Given the description of an element on the screen output the (x, y) to click on. 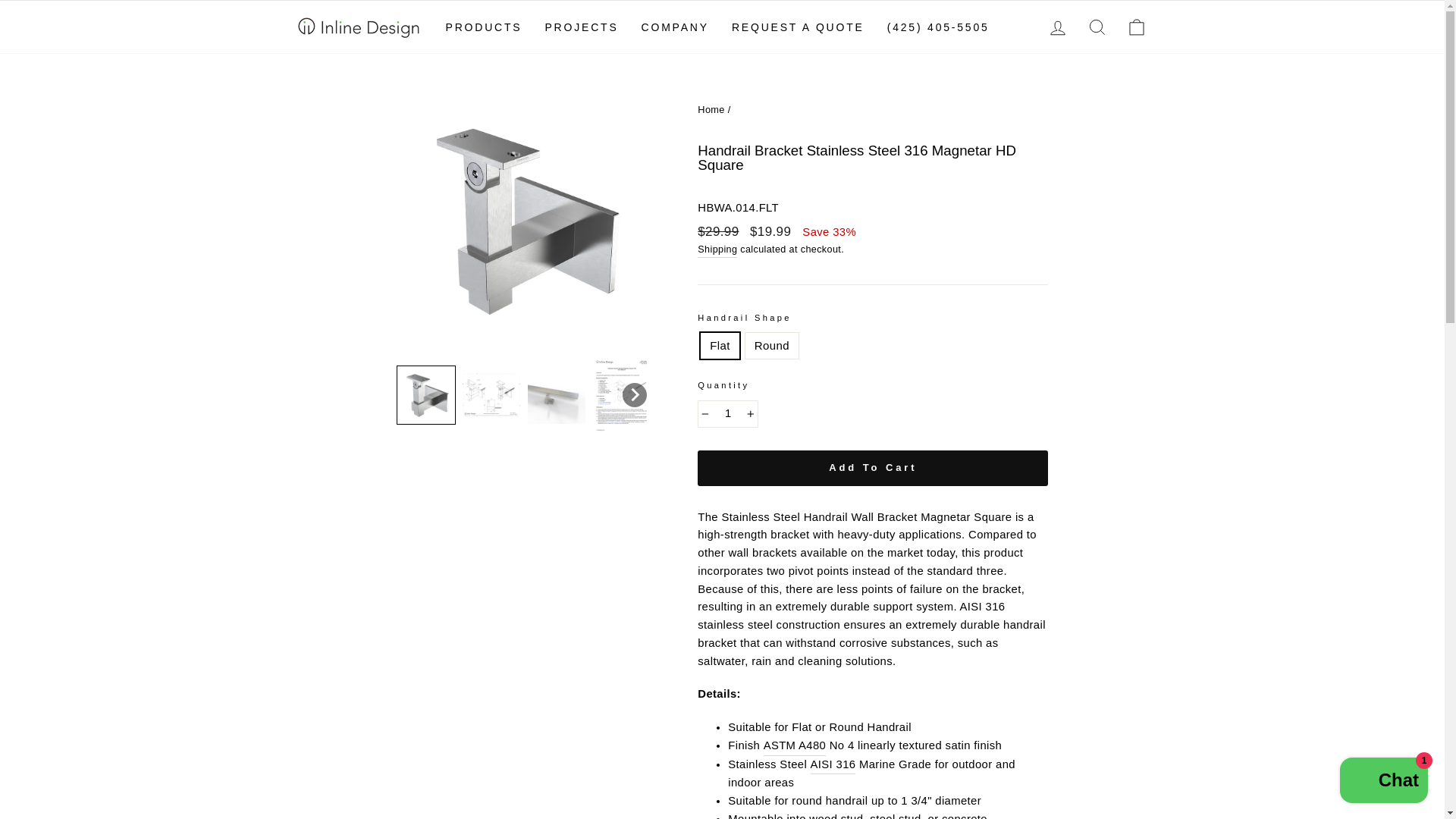
Back to the frontpage (711, 109)
Shopify online store chat (1383, 781)
1 (727, 413)
